Given the description of an element on the screen output the (x, y) to click on. 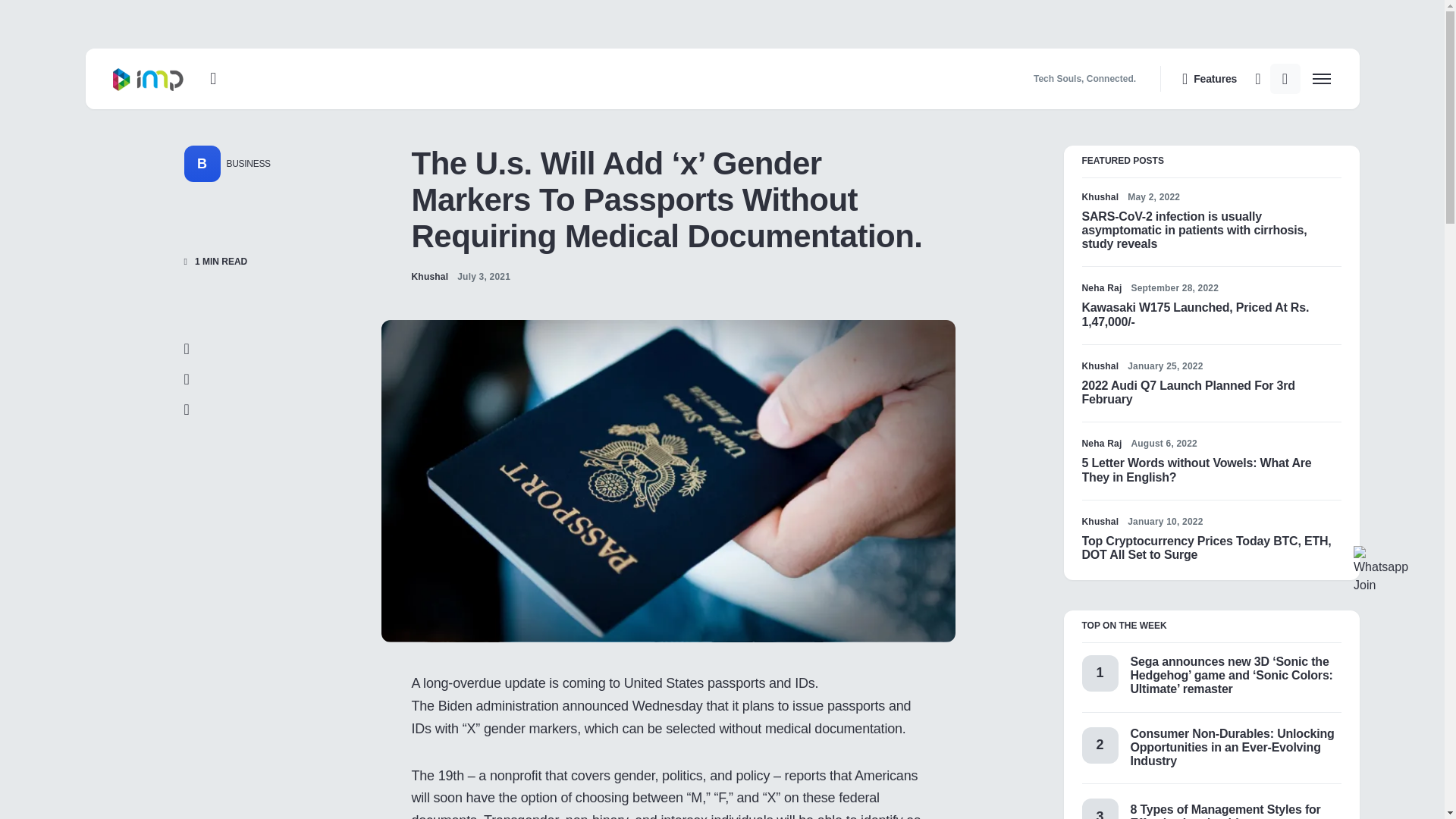
View all posts by Khushal (1099, 366)
View all posts by Khushal (429, 276)
View all posts by Khushal (1099, 521)
View all posts by Neha Raj (1101, 287)
View all posts by Neha Raj (1101, 443)
View all posts by Khushal (1099, 196)
